Given the description of an element on the screen output the (x, y) to click on. 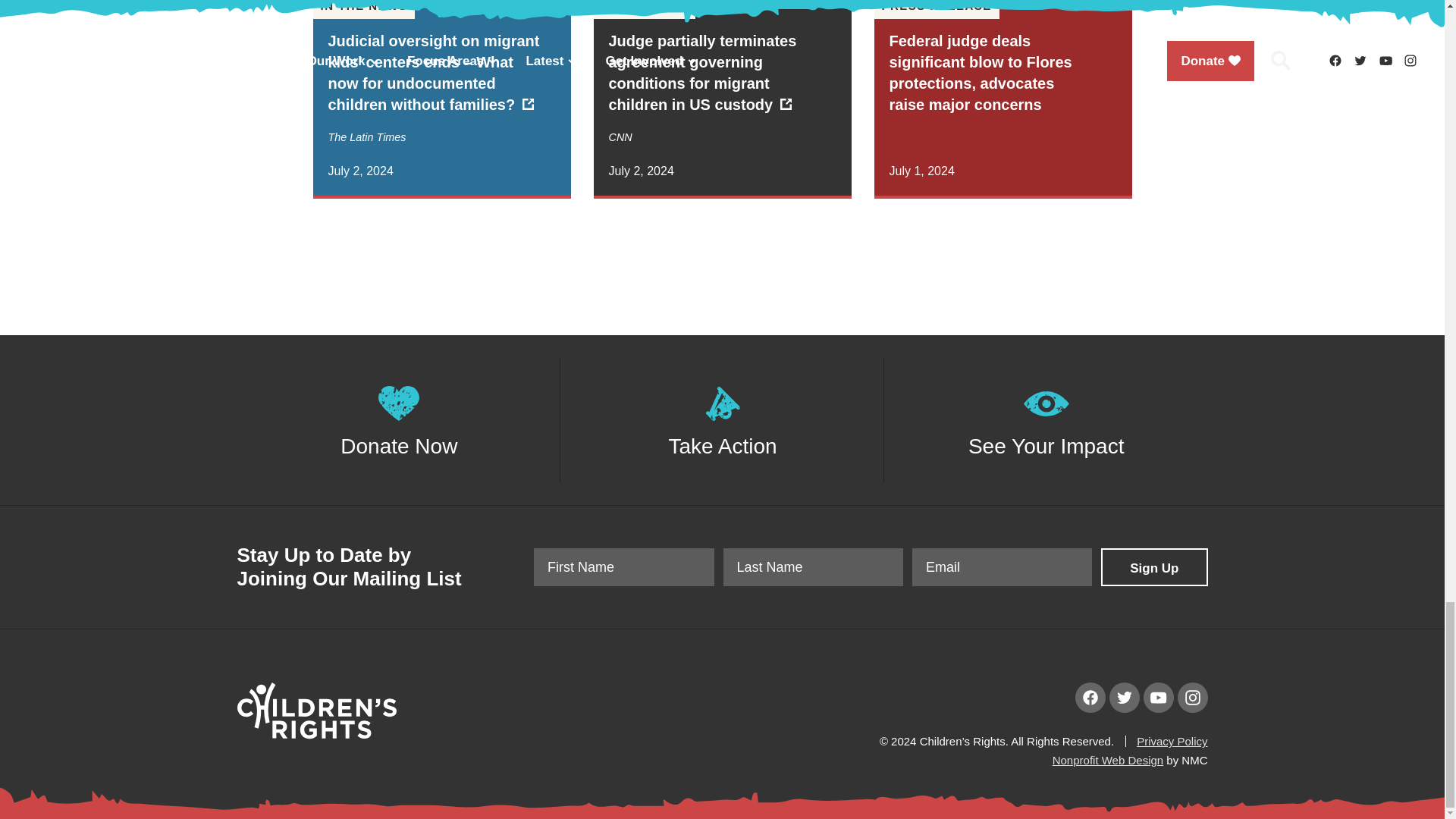
Sign Up (1153, 566)
homepage (315, 734)
